Given the description of an element on the screen output the (x, y) to click on. 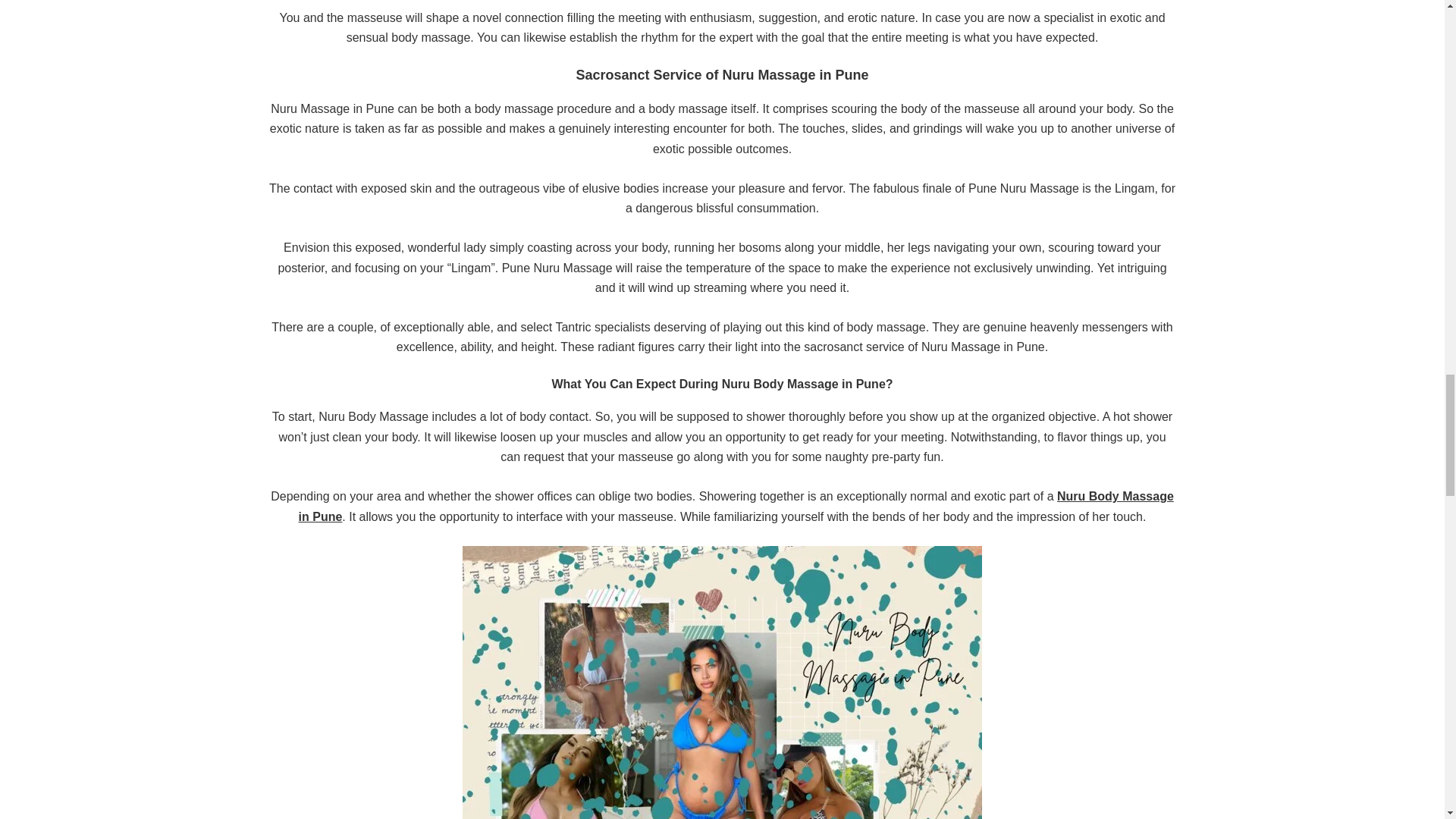
Nuru Body Massage in Pune (735, 505)
